Given the description of an element on the screen output the (x, y) to click on. 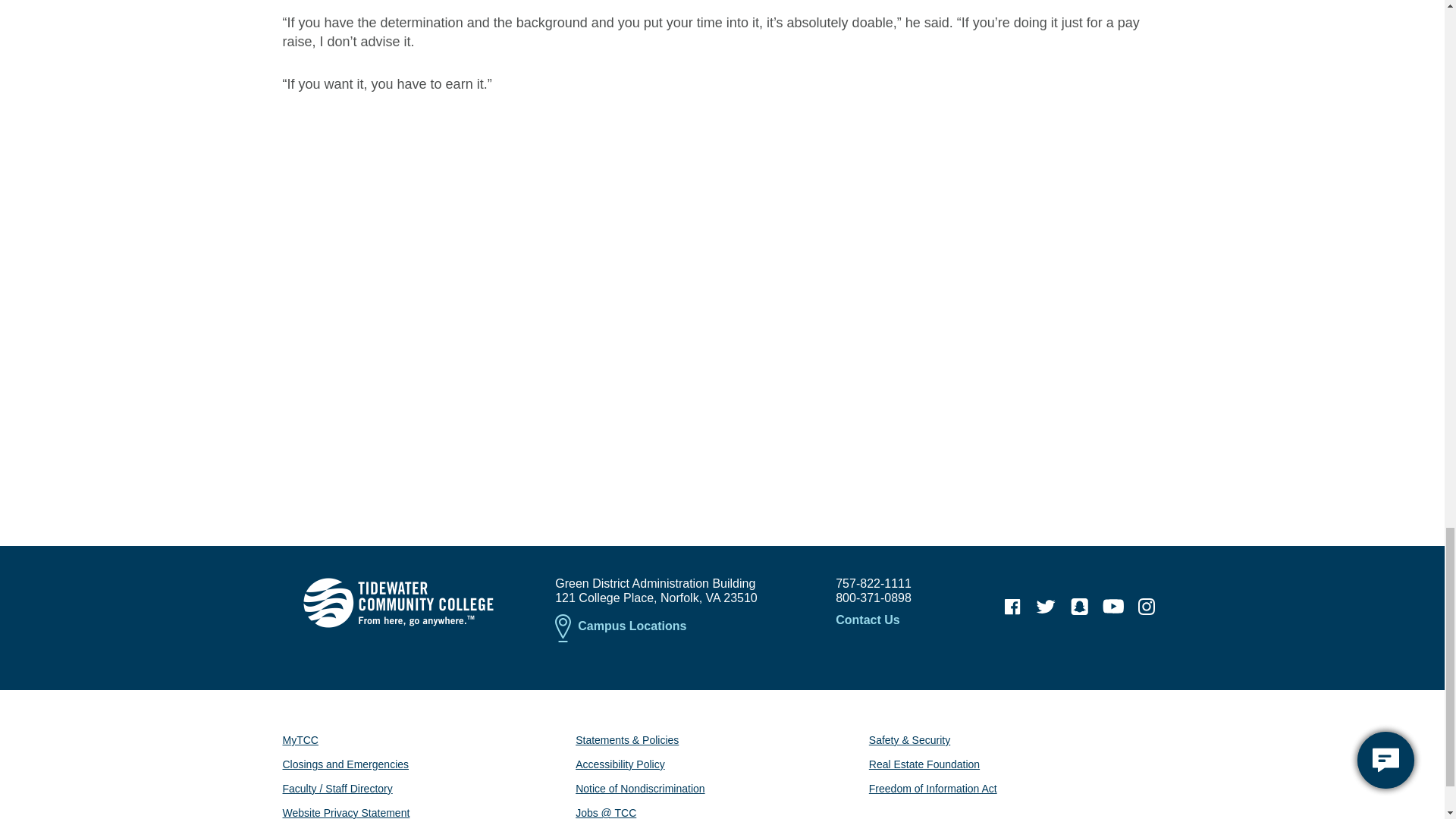
TCC on Facebook (1012, 606)
TCC on Instagram (1146, 606)
TCC on Snapchat (1079, 606)
TCC on YouTube (1112, 606)
TCC on Twitter (1045, 606)
Tidewater Community College (398, 602)
